Given the description of an element on the screen output the (x, y) to click on. 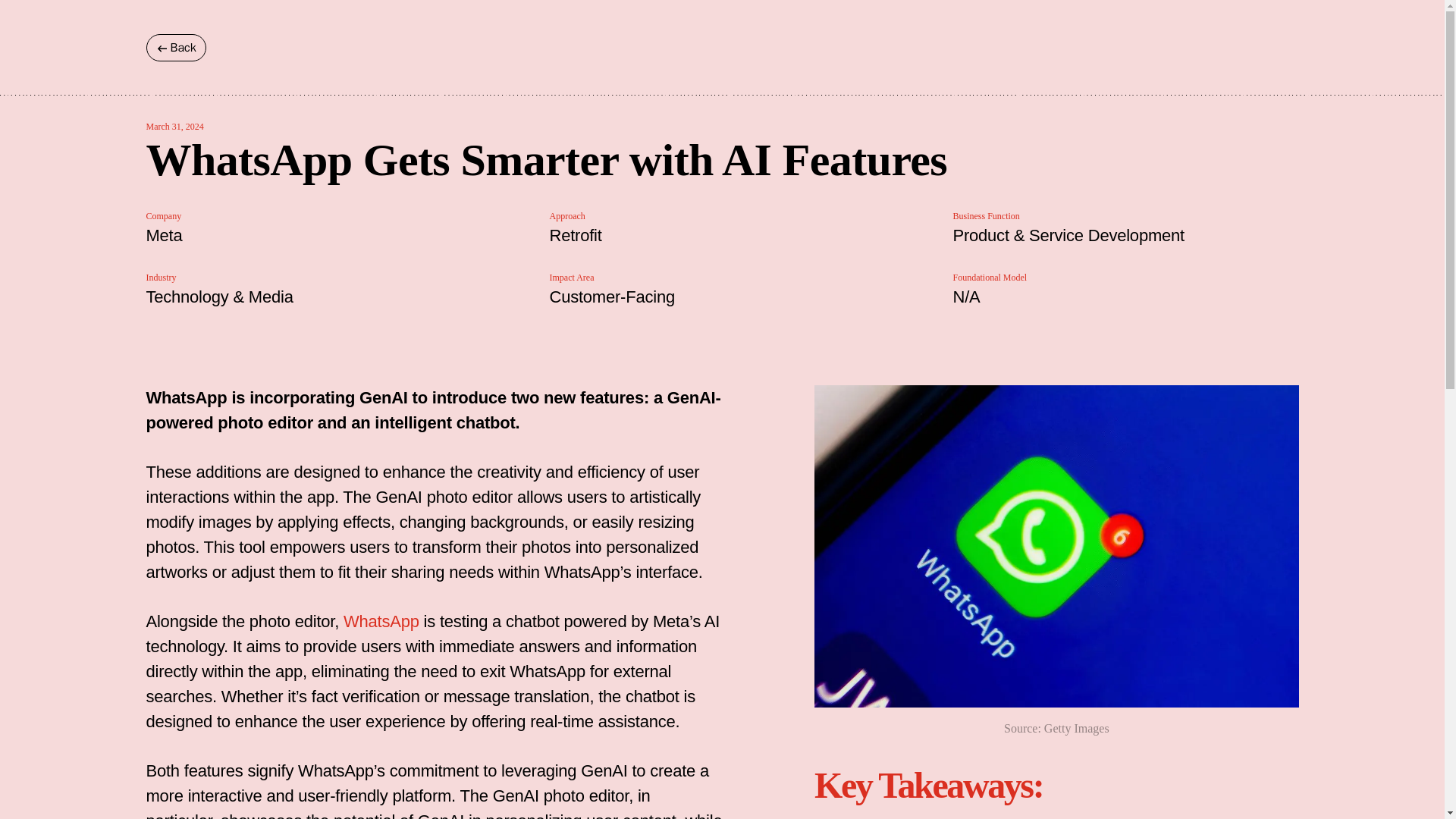
Back (175, 46)
WhatsApp (381, 620)
